Given the description of an element on the screen output the (x, y) to click on. 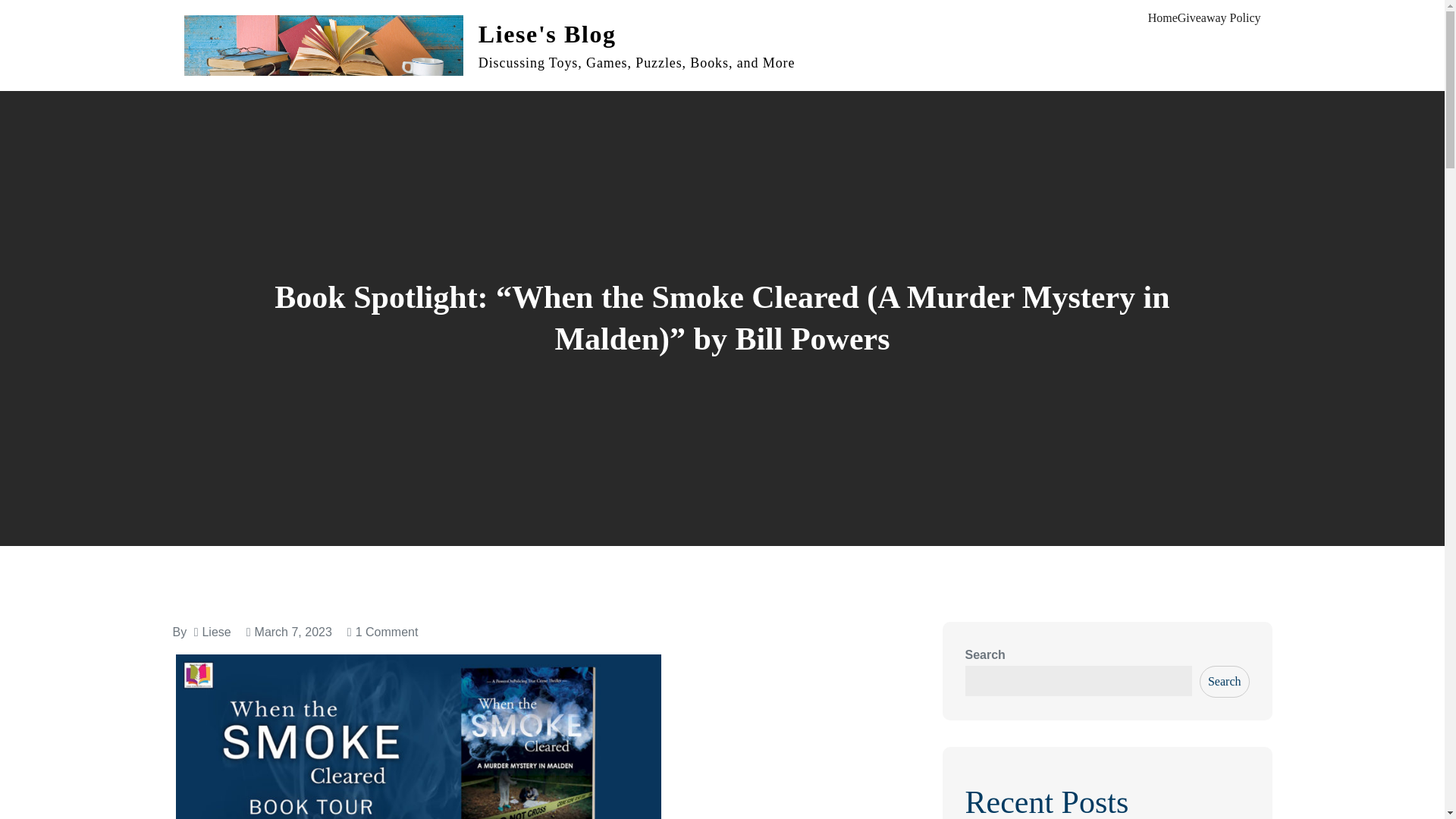
Liese's Blog (547, 33)
Home (1162, 17)
March 7, 2023 (288, 631)
Liese (216, 631)
Giveaway Policy (1218, 17)
Search (1224, 681)
